Given the description of an element on the screen output the (x, y) to click on. 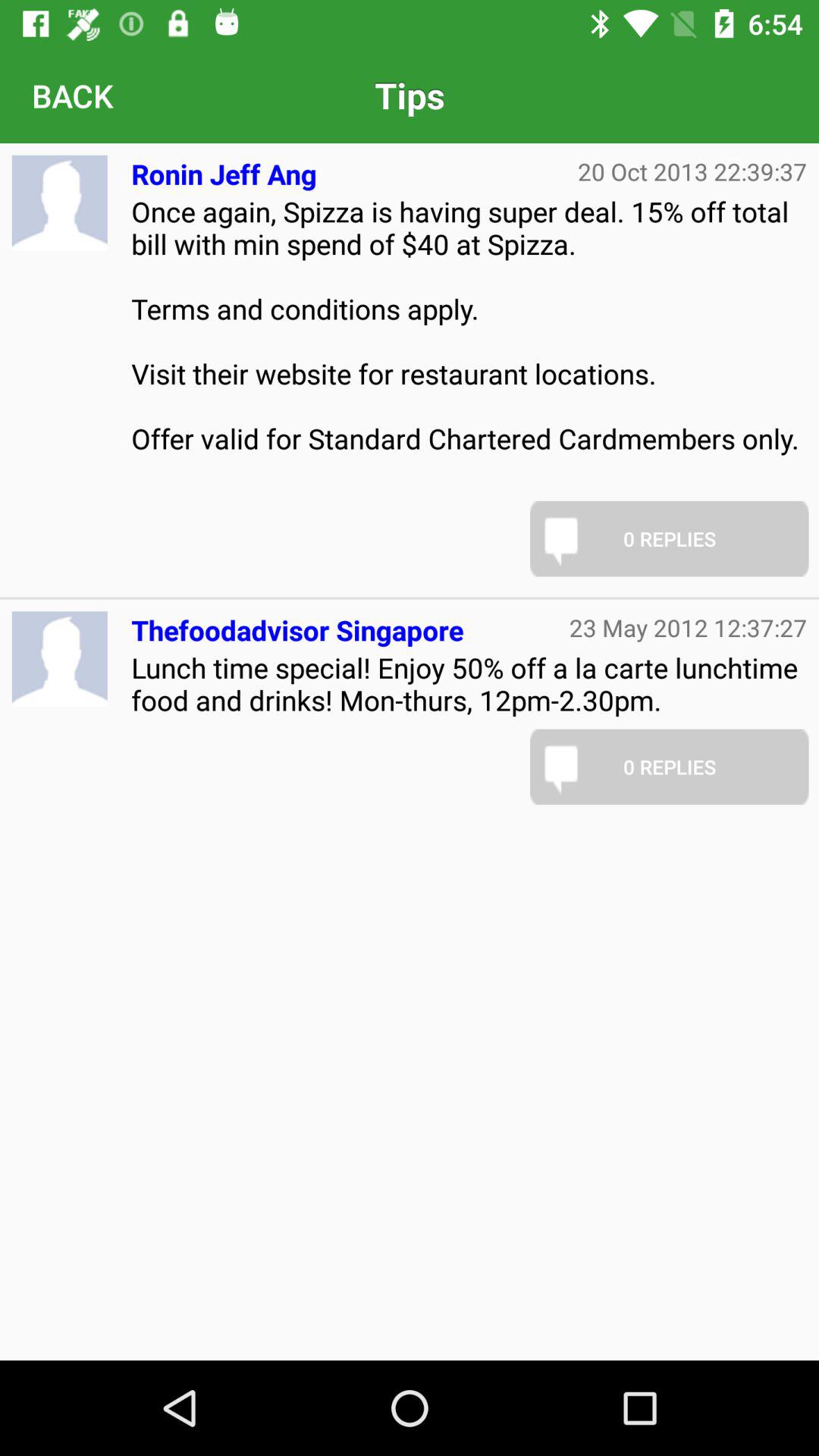
select 23 may 2012 icon (688, 627)
